Given the description of an element on the screen output the (x, y) to click on. 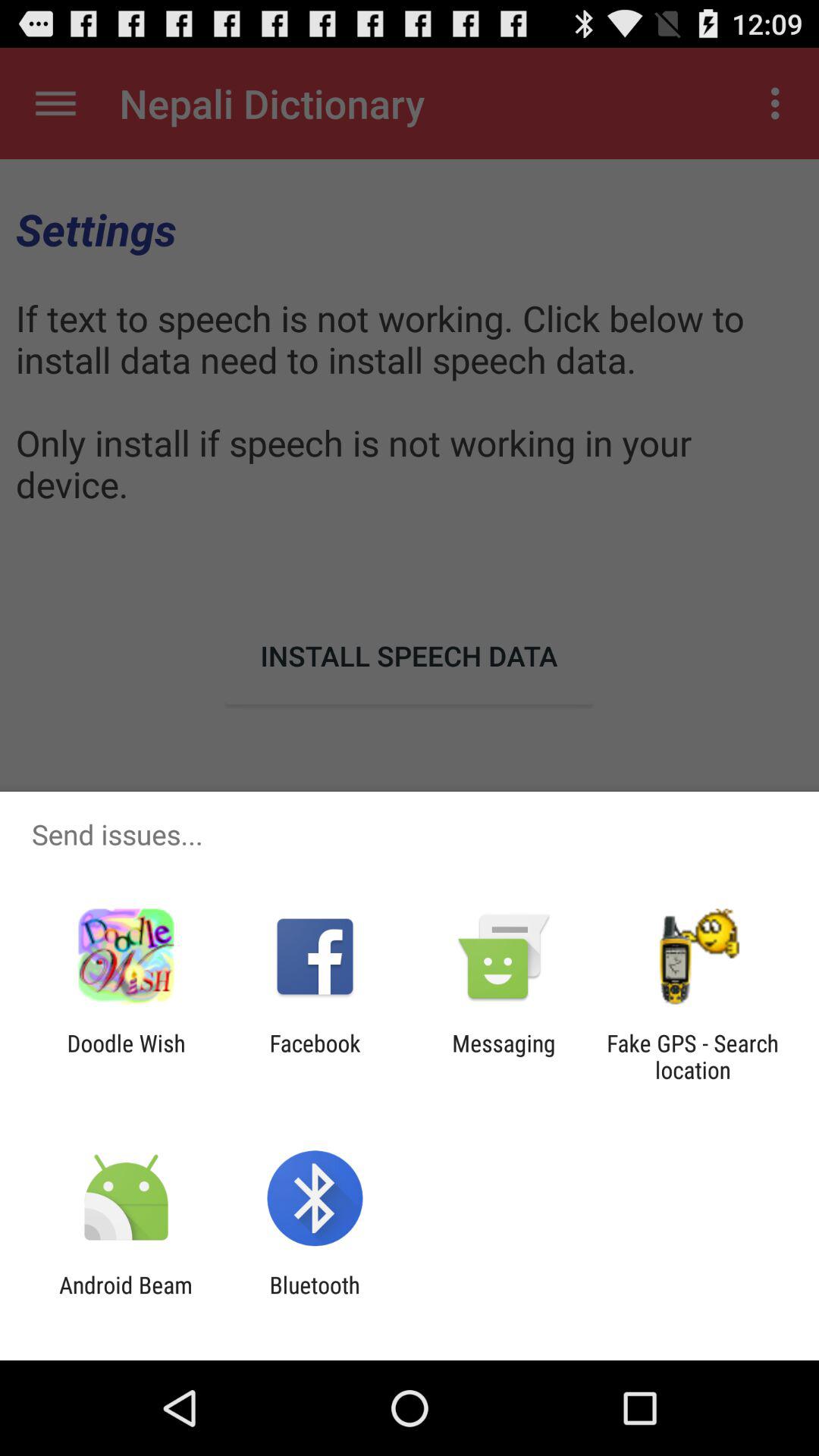
turn on the app to the right of the facebook item (503, 1056)
